Given the description of an element on the screen output the (x, y) to click on. 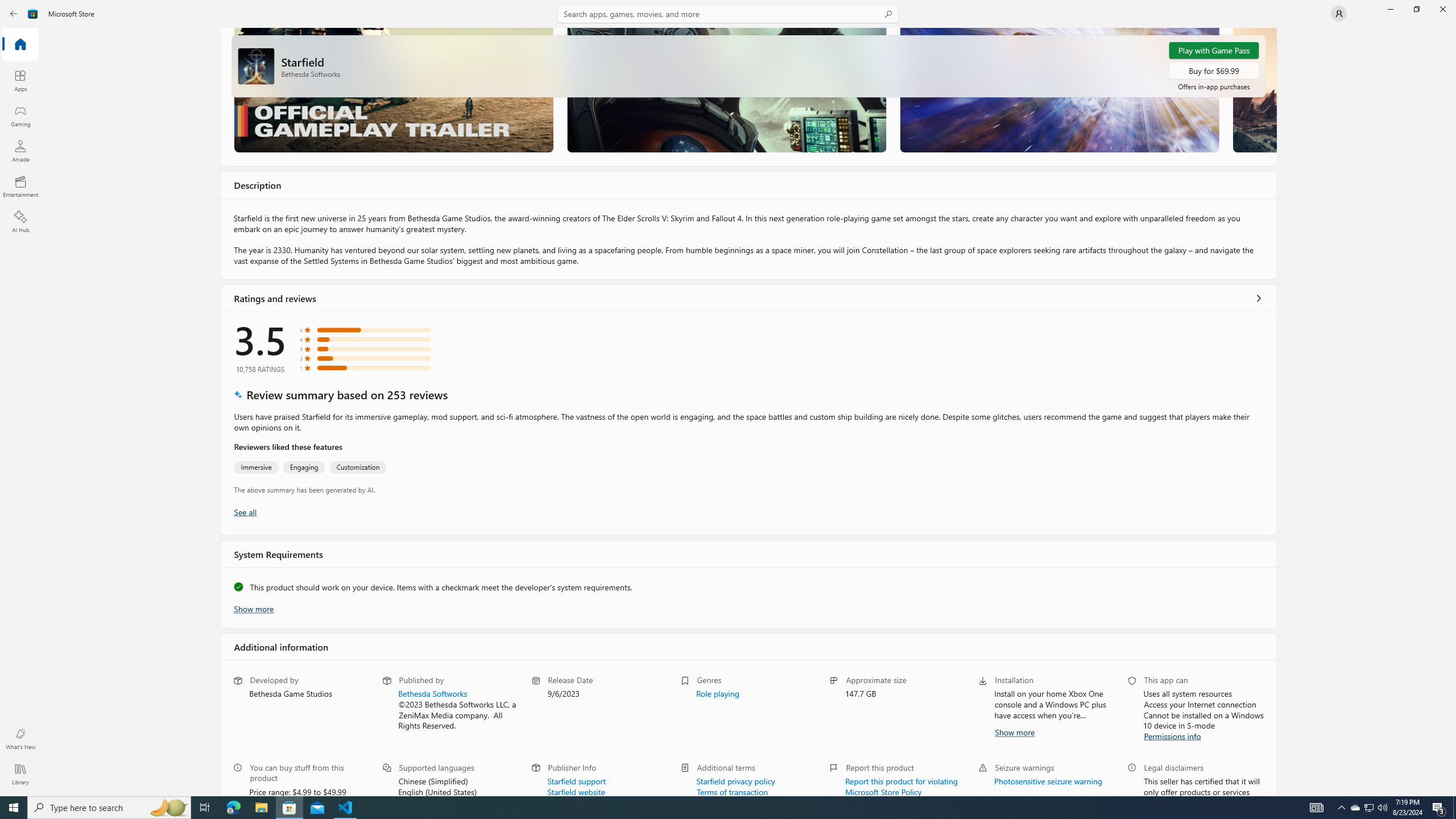
Show more (1013, 731)
Role playing (716, 692)
AutomationID: NavigationControl (728, 398)
Show all ratings and reviews (1258, 298)
